Given the description of an element on the screen output the (x, y) to click on. 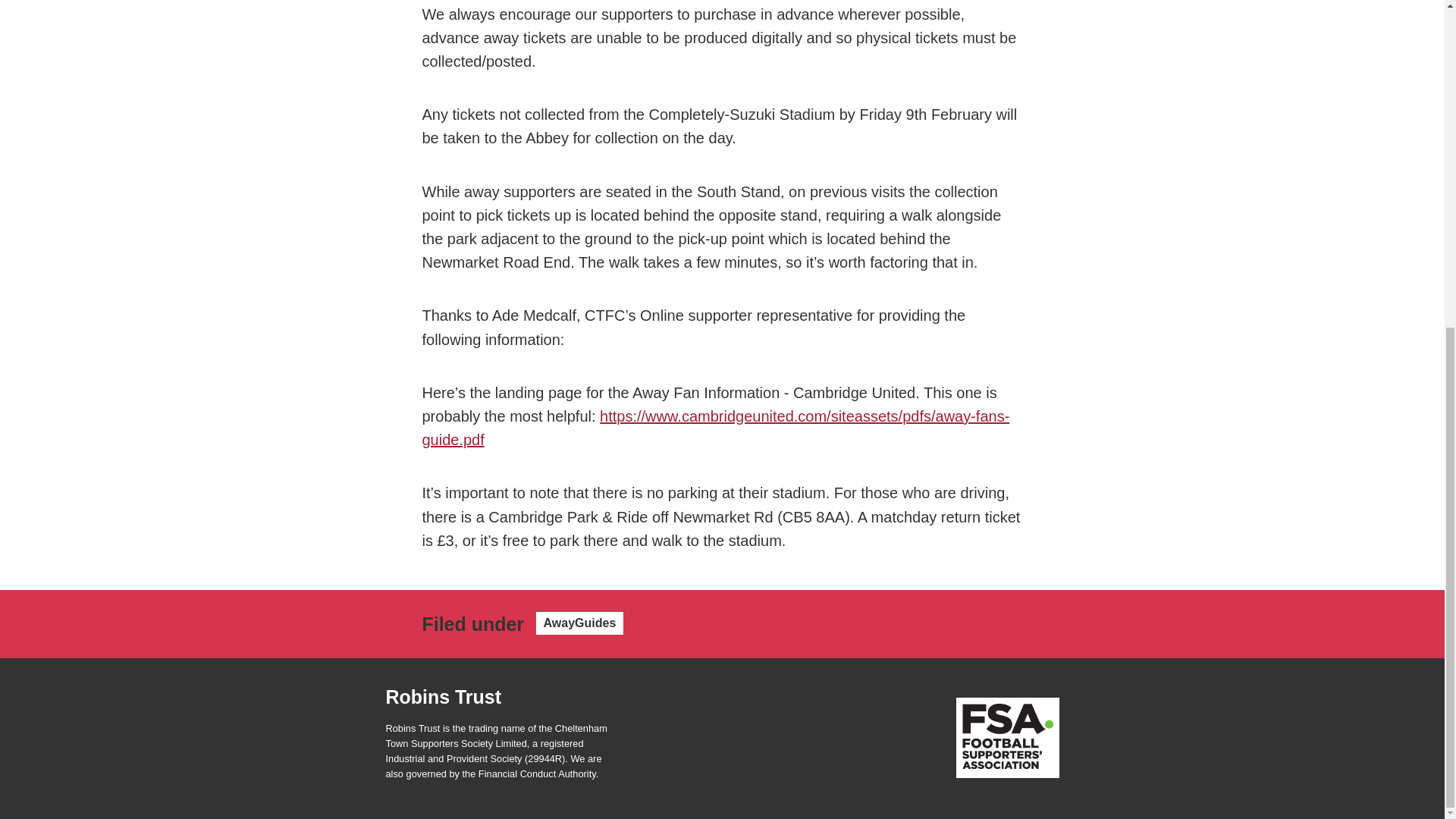
AwayGuides (579, 622)
Football Supporters Association (1006, 737)
